Given the description of an element on the screen output the (x, y) to click on. 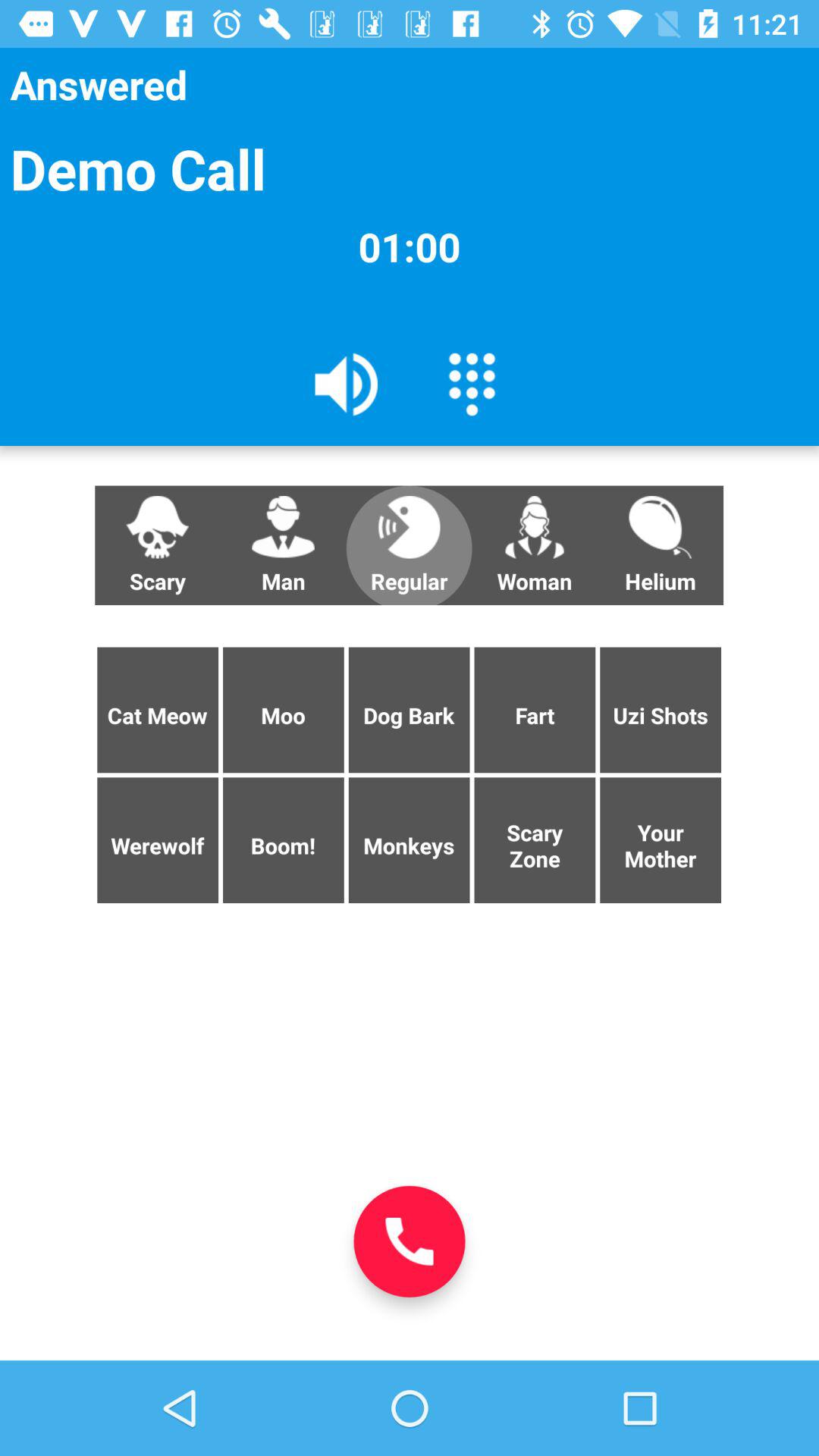
select the button next to woman button (660, 545)
